Given the description of an element on the screen output the (x, y) to click on. 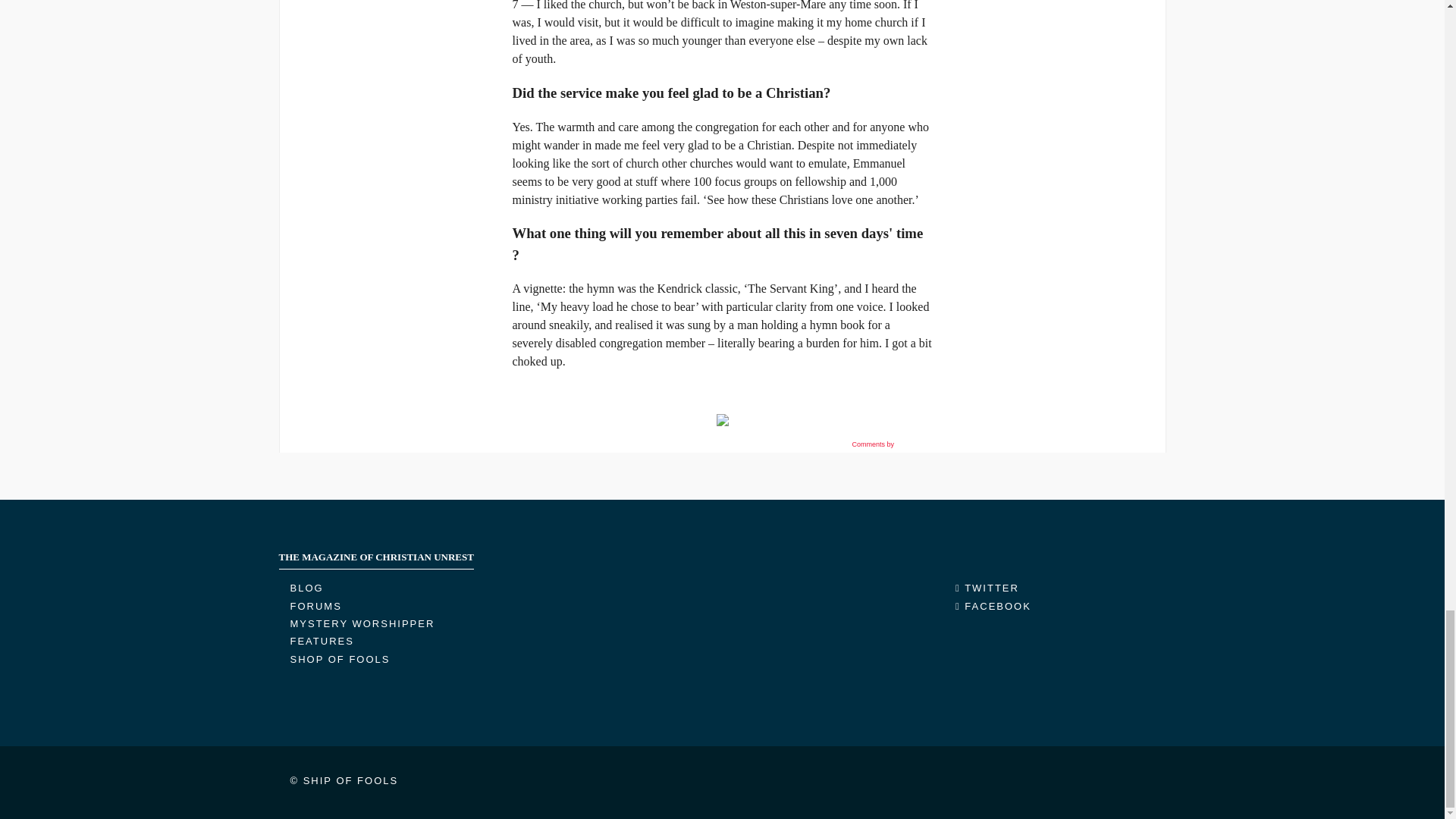
MYSTERY WORSHIPPER (361, 623)
FACEBOOK (992, 605)
FEATURES (321, 641)
FORUMS (314, 605)
BLOG (306, 587)
SHOP OF FOOLS (339, 659)
TWITTER (987, 587)
Comments by Vanilla (890, 443)
